Given the description of an element on the screen output the (x, y) to click on. 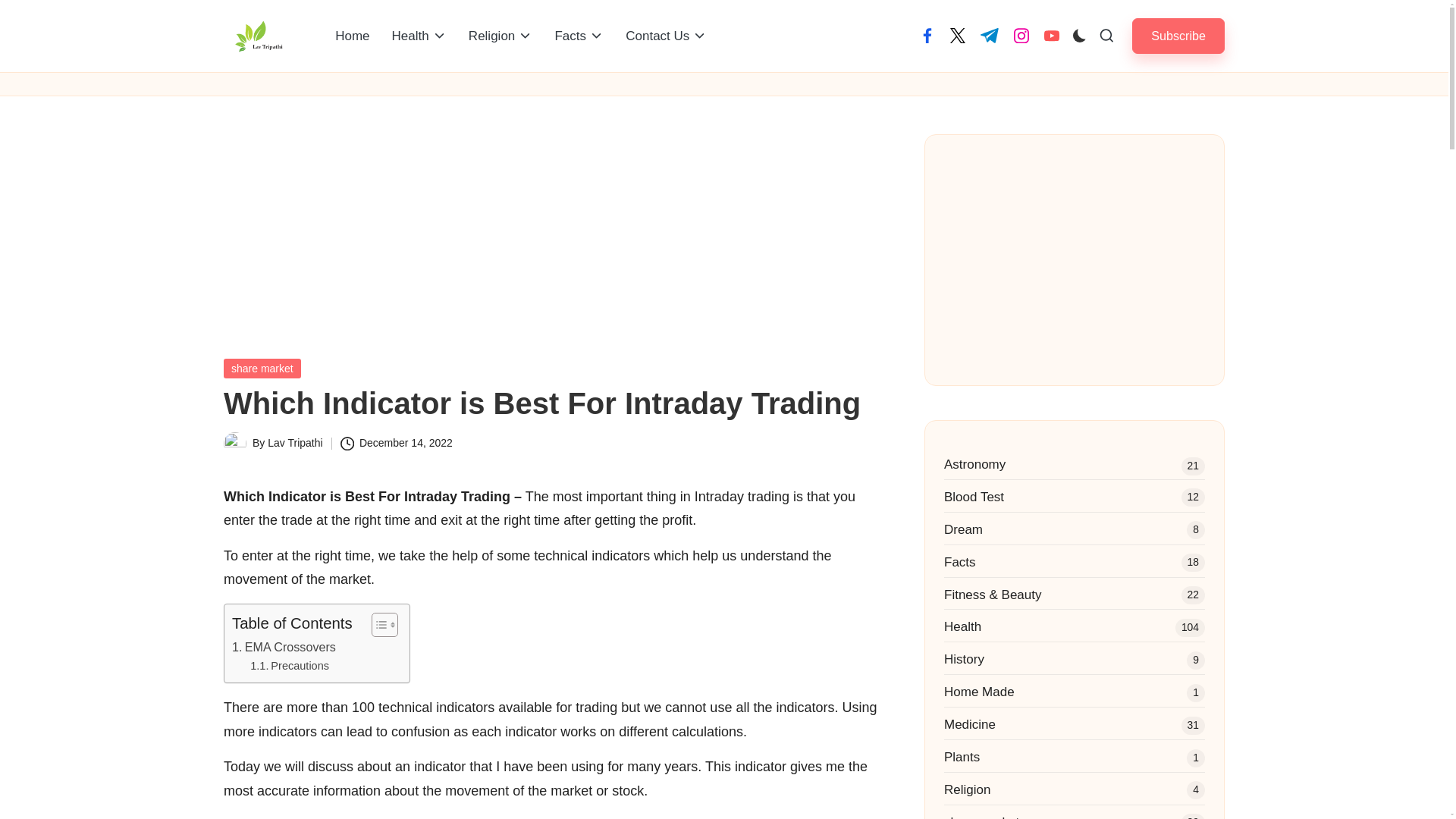
EMA Crossovers (283, 647)
Advertisement (1074, 259)
Facts (578, 36)
Home (352, 36)
Religion (500, 36)
View all posts by Lav Tripathi (294, 442)
Health (419, 36)
Precautions (289, 665)
